Given the description of an element on the screen output the (x, y) to click on. 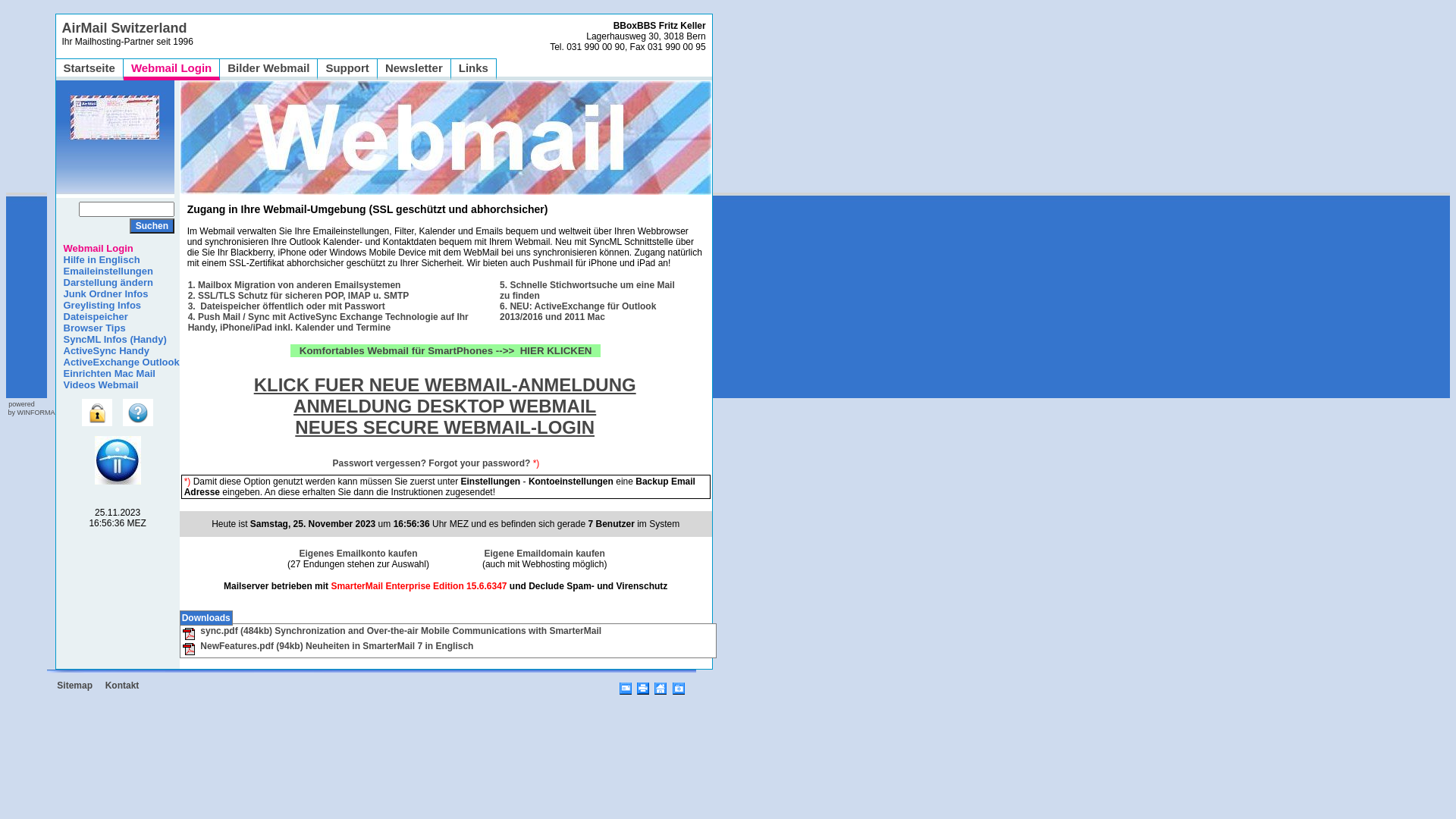
Emaileinstellungen Element type: text (104, 270)
Support Element type: text (347, 67)
Bilder Webmail Element type: text (268, 67)
Kontakt Element type: text (122, 685)
Passwort vergessen? Forgot your password? Element type: text (431, 468)
ActiveSync Handy Element type: text (102, 350)
Startseite / Page Element type: hover (660, 685)
Favoriten Element type: hover (678, 685)
Videos Webmail Element type: text (97, 384)
Greylisting Infos Element type: text (98, 304)
Einrichten Mac Mail Element type: text (105, 373)
Sitemap Element type: text (74, 685)
Links Element type: text (473, 67)
1. Mailbox Migration von anderen Emailsystemen Element type: text (294, 284)
Dateispeicher Element type: text (92, 316)
Eigenes Emailkonto kaufen Element type: text (357, 553)
Newsletter Element type: text (413, 67)
Webmail Login Element type: text (171, 67)
AirMail Switzerland Element type: text (124, 27)
SyncML Infos (Handy) Element type: text (111, 339)
Suchen Element type: text (151, 225)
Hilfe in Englisch Element type: text (98, 259)
ActiveExchange Outlook Element type: text (117, 361)
powered
 by WINFORMA Element type: text (30, 408)
Eigene Emaildomain kaufen Element type: text (543, 553)
Junk Ordner Infos Element type: text (102, 293)
Browser Tips Element type: text (90, 327)
Pushmail Element type: text (552, 262)
Startseite Element type: text (89, 67)
5. Schnelle Stichwortsuche um eine Mail zu finden Element type: text (586, 290)
Webmail Login Element type: text (94, 248)
